Given the description of an element on the screen output the (x, y) to click on. 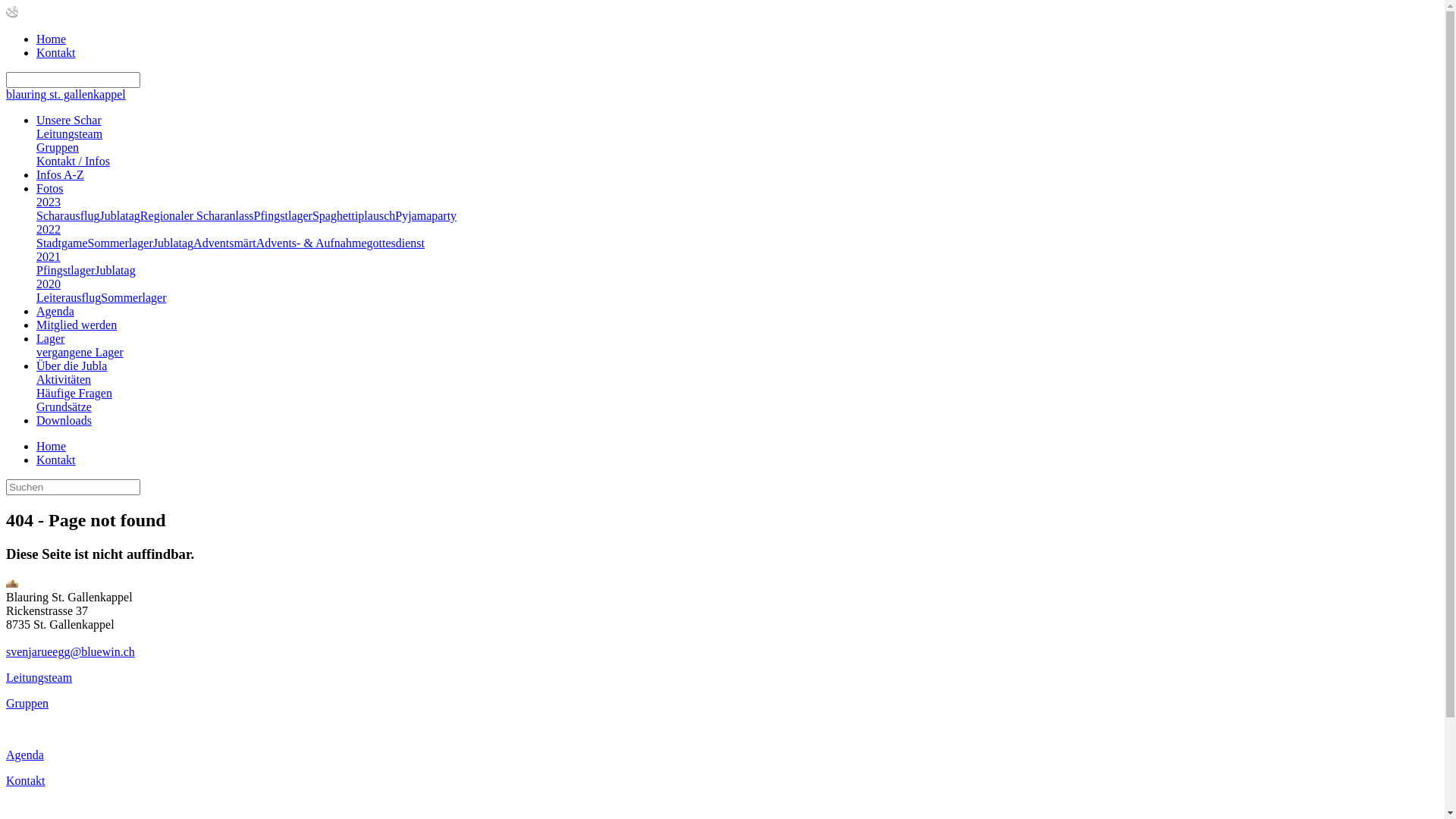
Agenda Element type: text (55, 310)
404 - Page not found Element type: hover (12, 583)
Leiterausflug Element type: text (68, 297)
Regionaler Scharanlass Element type: text (197, 215)
Spaghettiplausch Element type: text (353, 215)
2023 Element type: text (48, 201)
Gruppen Element type: text (57, 147)
Pyjamaparty Element type: text (425, 215)
2021 Element type: text (48, 256)
Home Element type: text (50, 38)
Downloads Element type: text (63, 420)
Leitungsteam Element type: text (39, 677)
Jublatag Element type: text (114, 269)
Kontakt / Infos Element type: text (72, 160)
Fotos Element type: text (49, 188)
vergangene Lager Element type: text (79, 351)
2020 Element type: text (48, 283)
Blauring St. Gallenkappel Element type: hover (12, 12)
Stadtgame Element type: text (61, 242)
Sommerlager Element type: text (120, 242)
Unsere Schar Element type: text (68, 119)
Sommerlager Element type: text (133, 297)
Home Element type: text (50, 445)
Pfingstlager Element type: text (283, 215)
Jublatag Element type: text (120, 215)
Infos A-Z Element type: text (60, 174)
Not Found Element type: hover (12, 11)
Advents- & Aufnahmegottesdienst Element type: text (340, 242)
Gruppen Element type: text (27, 702)
Mitglied werden Element type: text (76, 324)
blauring st. gallenkappel Element type: text (65, 93)
Scharausflug Element type: text (68, 215)
Kontakt Element type: text (55, 459)
Kontakt Element type: text (55, 52)
Leitungsteam Element type: text (69, 133)
2022 Element type: text (48, 228)
Lager Element type: text (50, 338)
Agenda Element type: text (24, 754)
Kontakt Element type: text (25, 780)
Jublatag Element type: text (173, 242)
svenjarueegg@bluewin.ch Element type: text (70, 651)
Pfingstlager Element type: text (65, 269)
